Given the description of an element on the screen output the (x, y) to click on. 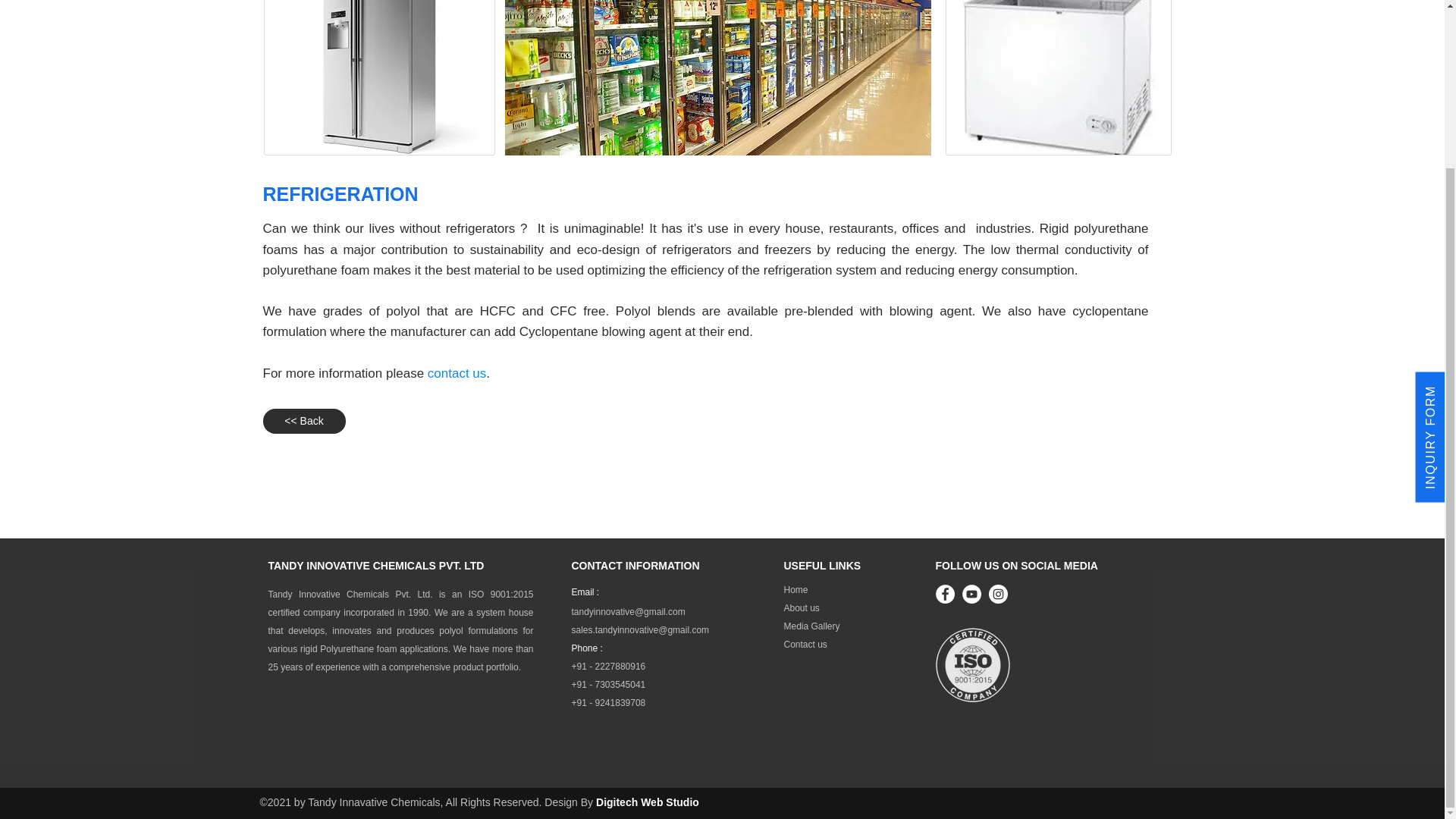
CONTACT INFORMATION (636, 565)
FOLLOW US ON SOCIAL MEDIA (1016, 565)
USEFUL LINKS (822, 565)
TANDY INNOVATIVE CHEMICALS PVT. LTD (375, 565)
Digitech Web Studio (646, 802)
contact us (457, 373)
